Given the description of an element on the screen output the (x, y) to click on. 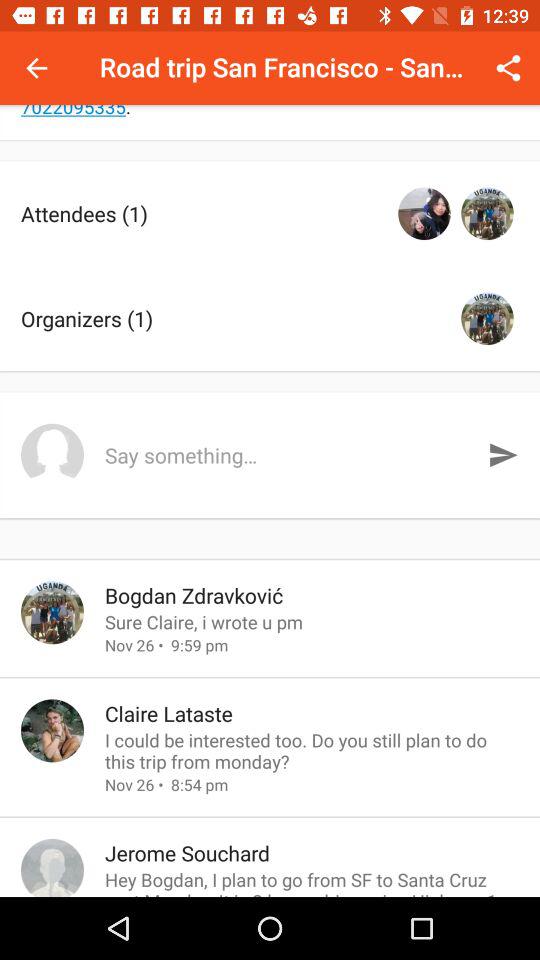
previous (36, 68)
